Given the description of an element on the screen output the (x, y) to click on. 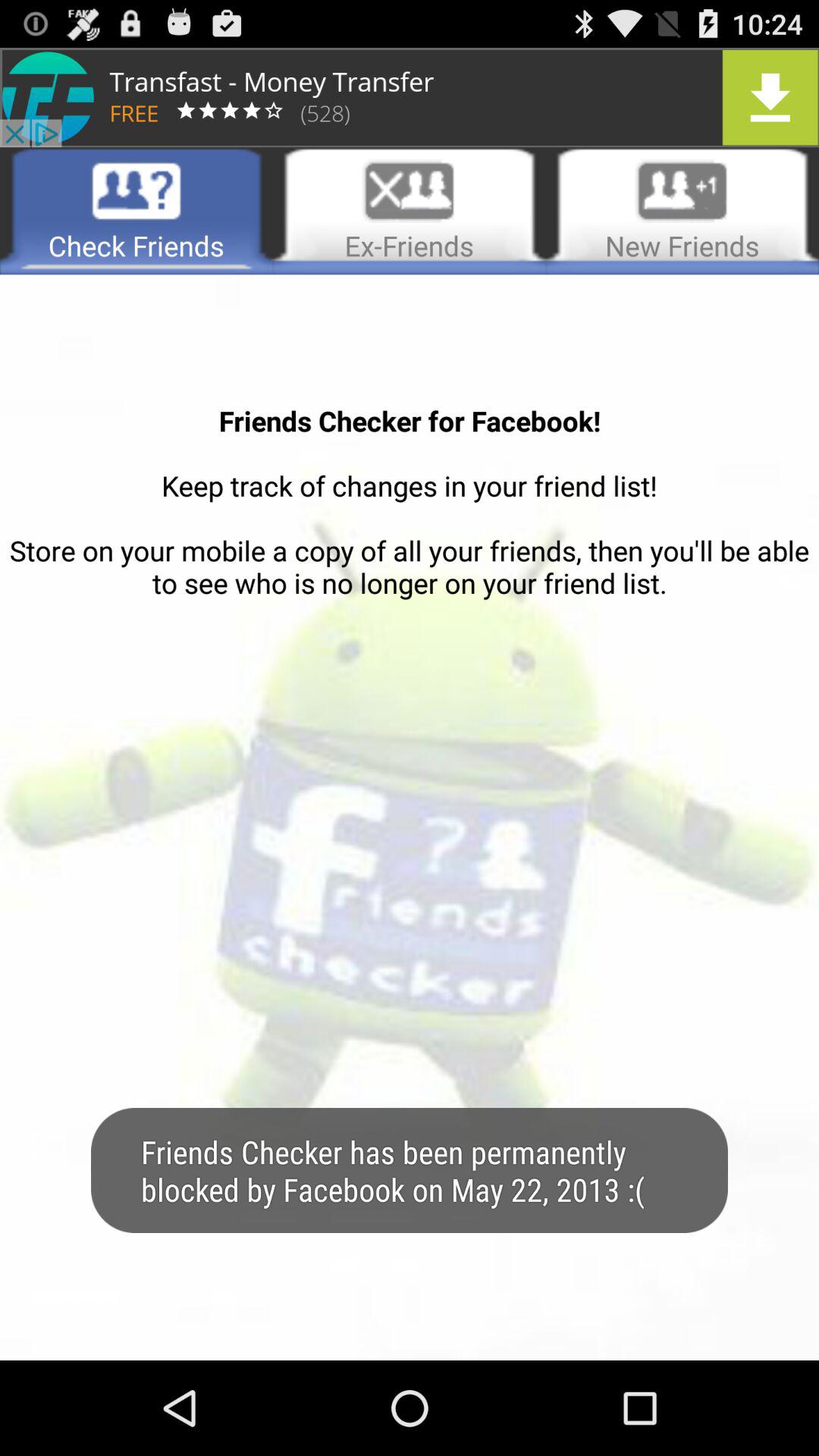
advertising link (409, 97)
